Given the description of an element on the screen output the (x, y) to click on. 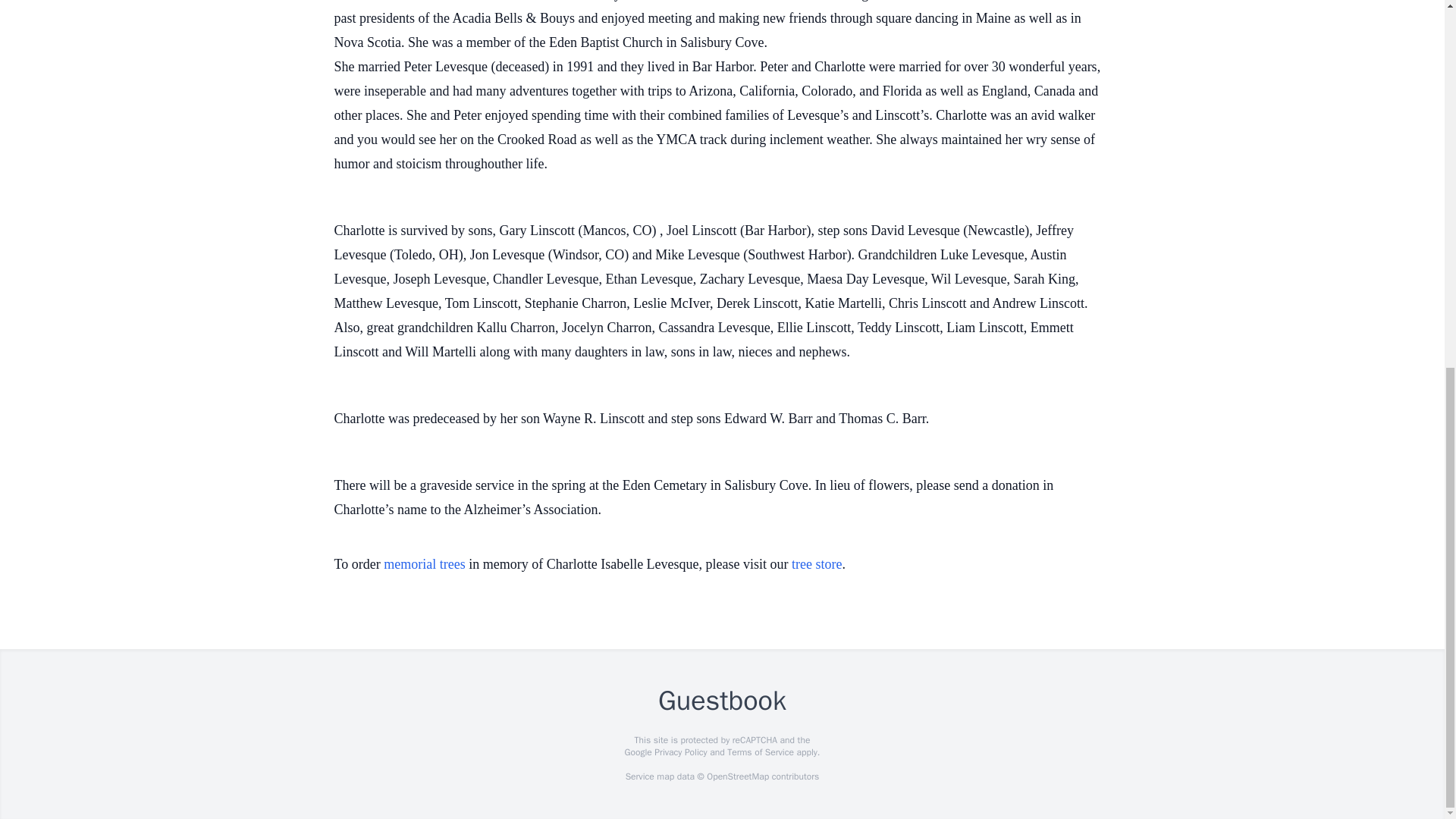
tree store (816, 563)
Privacy Policy (679, 752)
memorial trees (424, 563)
Terms of Service (759, 752)
OpenStreetMap (737, 776)
